Given the description of an element on the screen output the (x, y) to click on. 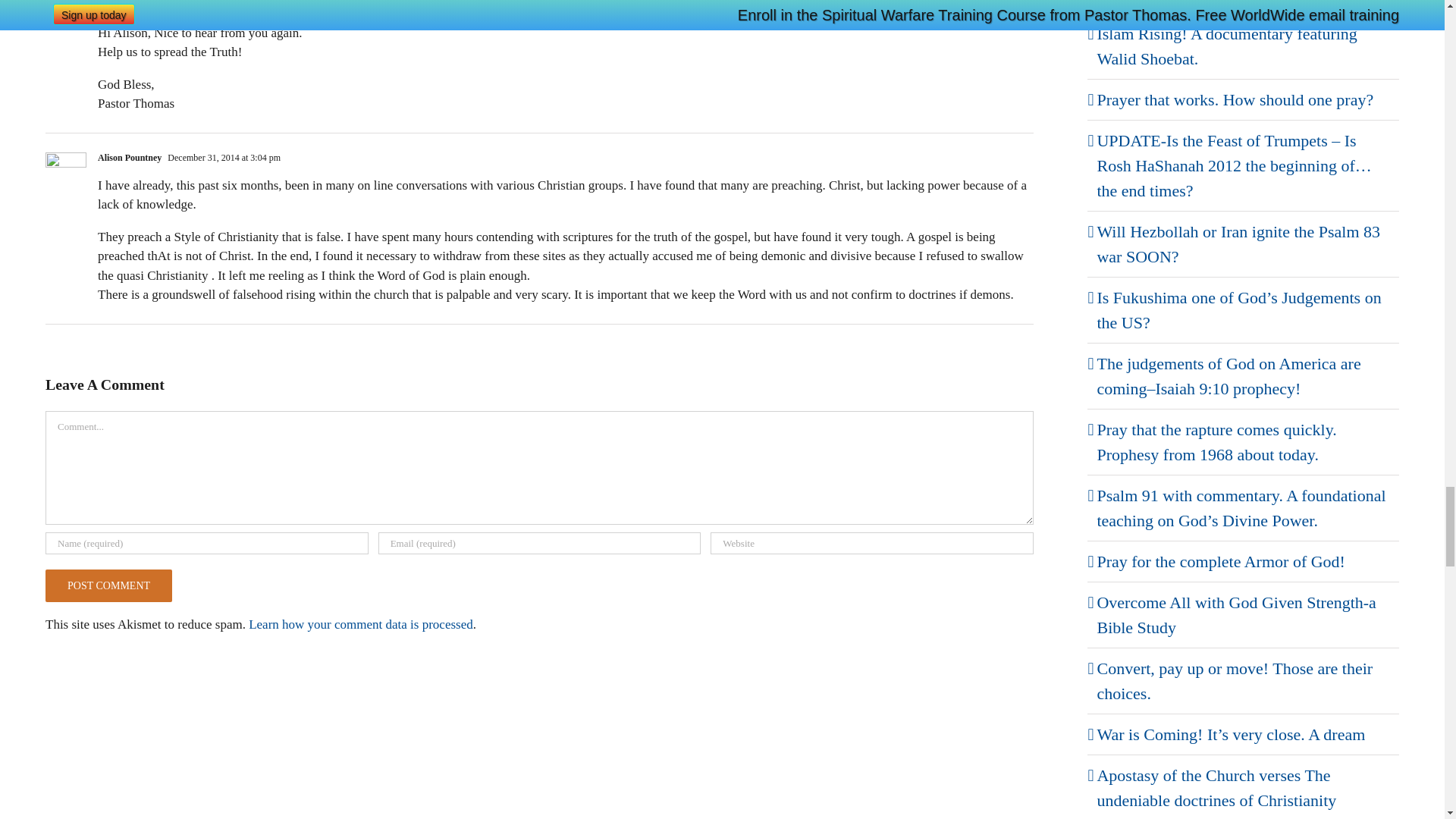
Post Comment (108, 585)
